Given the description of an element on the screen output the (x, y) to click on. 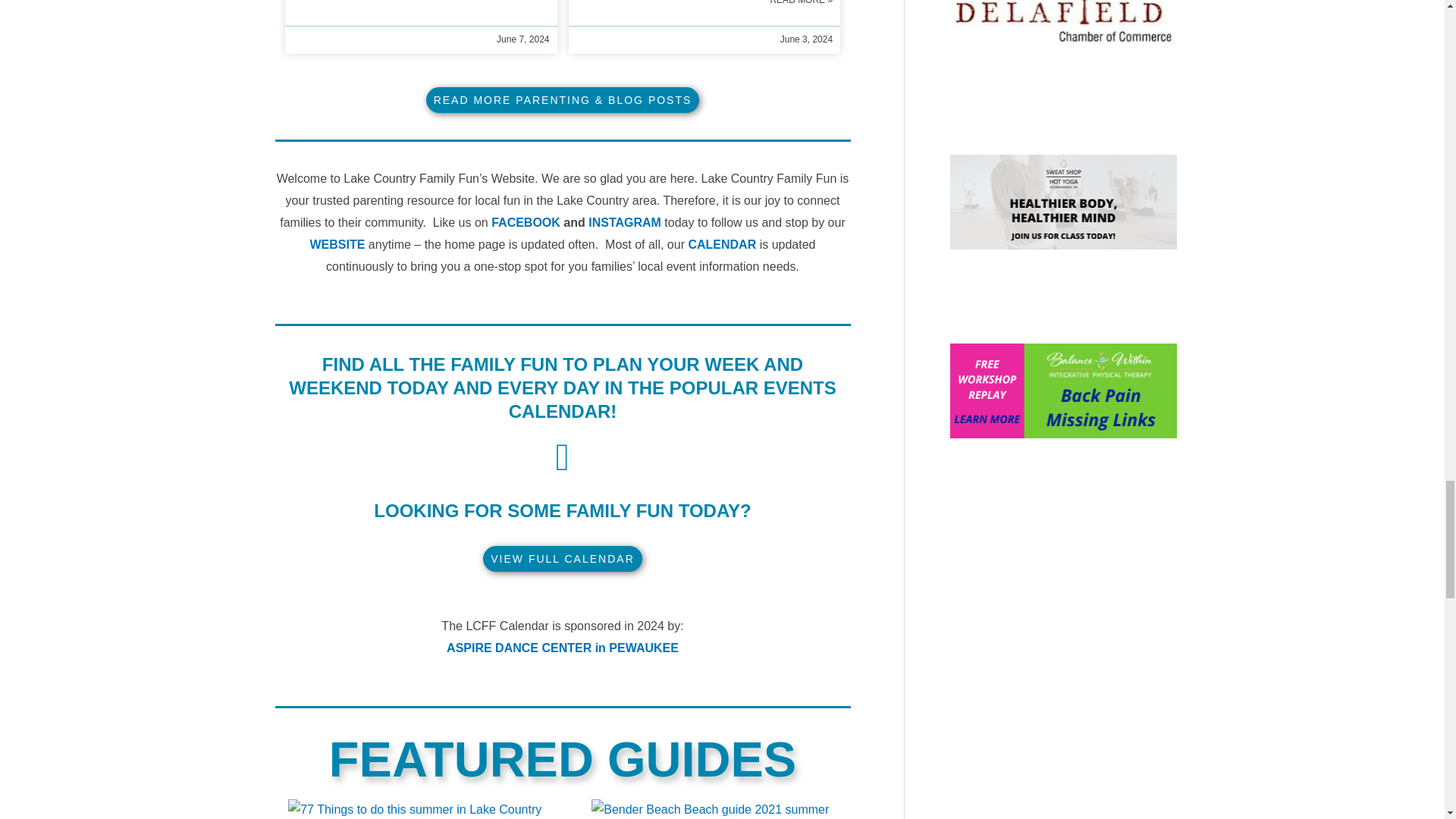
Bender Beach Beach guide 2021 summer (709, 809)
77 Things to do this summer in Lake Country (414, 809)
